Given the description of an element on the screen output the (x, y) to click on. 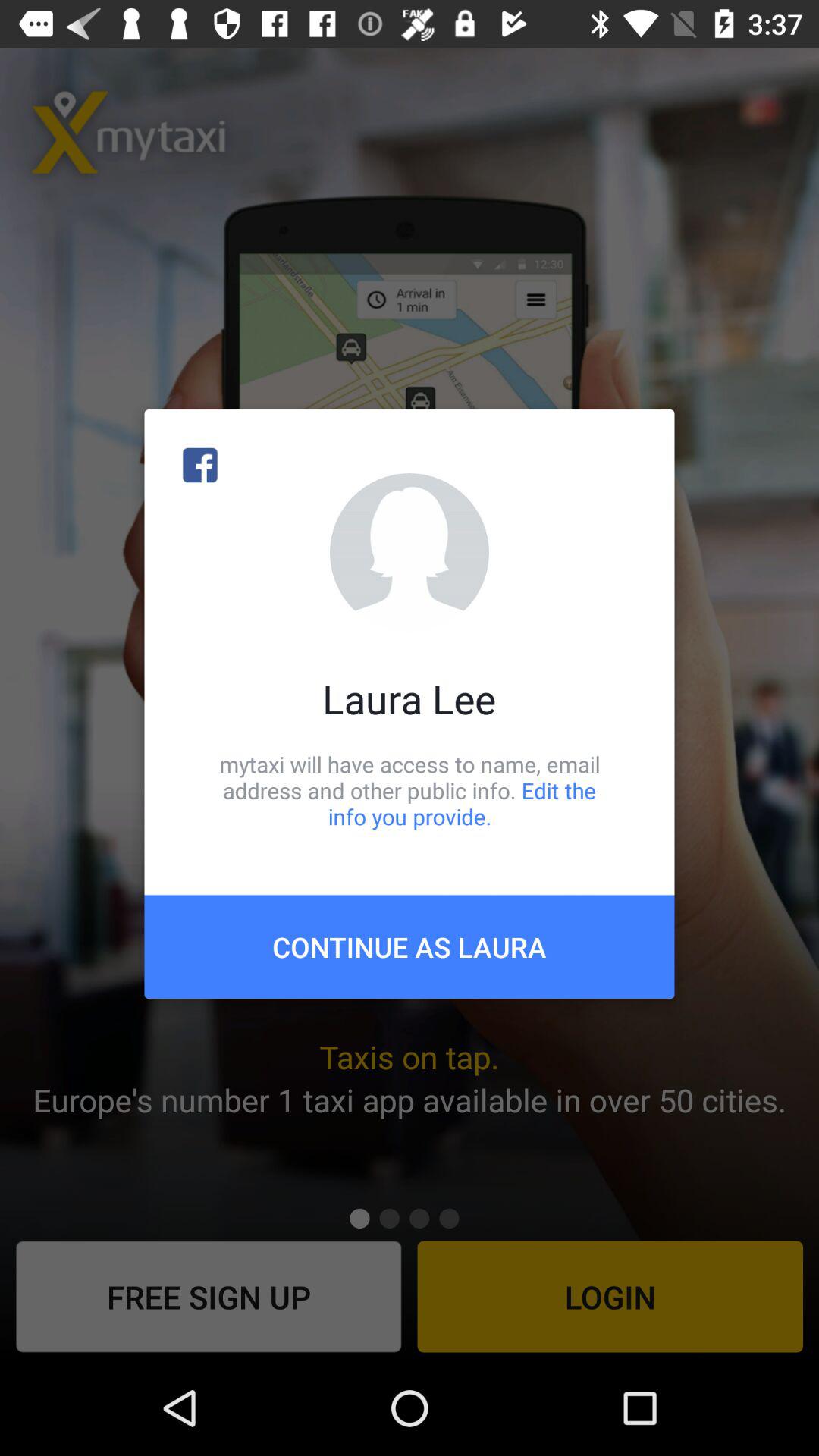
scroll to the continue as laura item (409, 946)
